Given the description of an element on the screen output the (x, y) to click on. 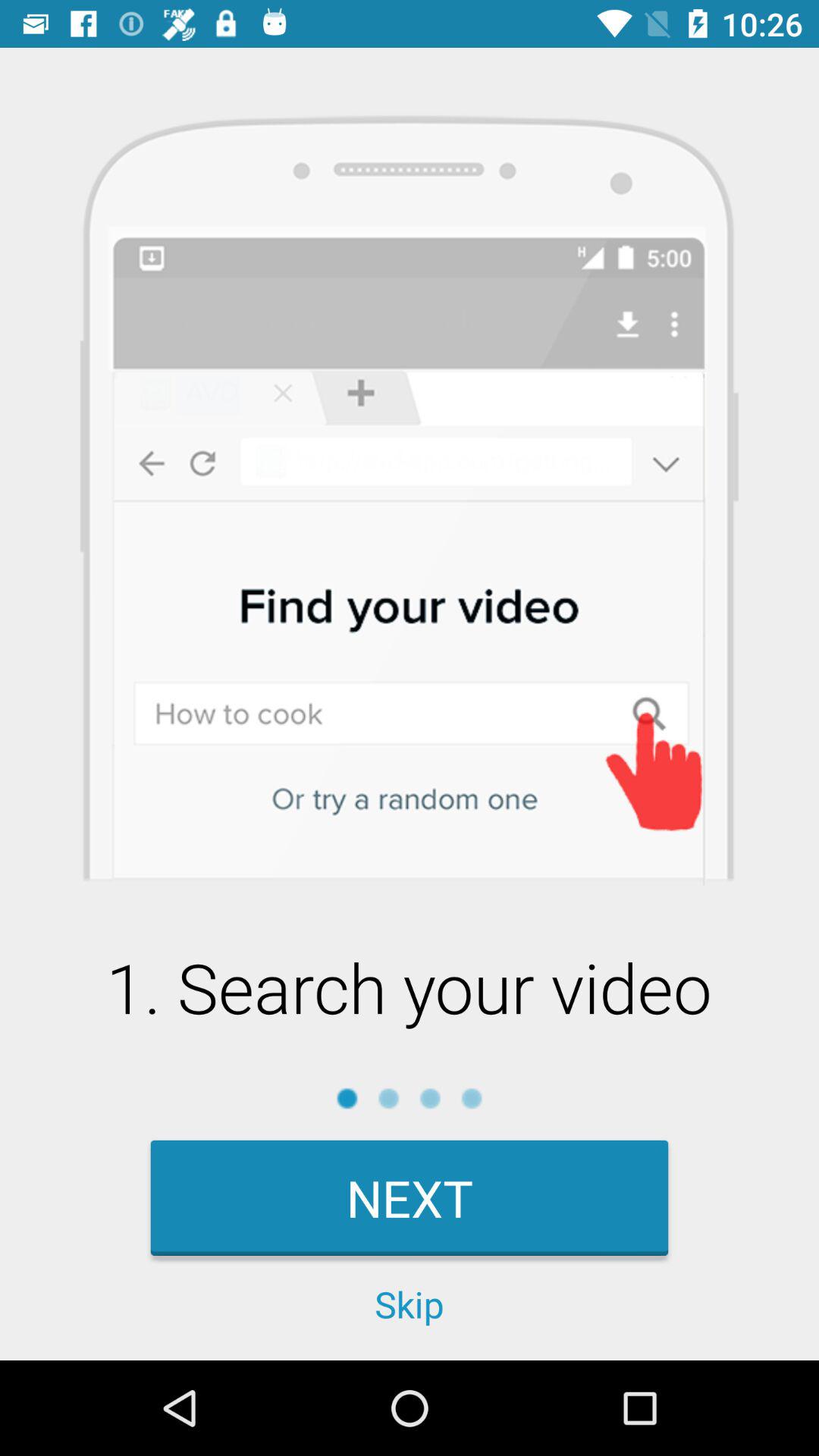
jump to the skip (409, 1303)
